Given the description of an element on the screen output the (x, y) to click on. 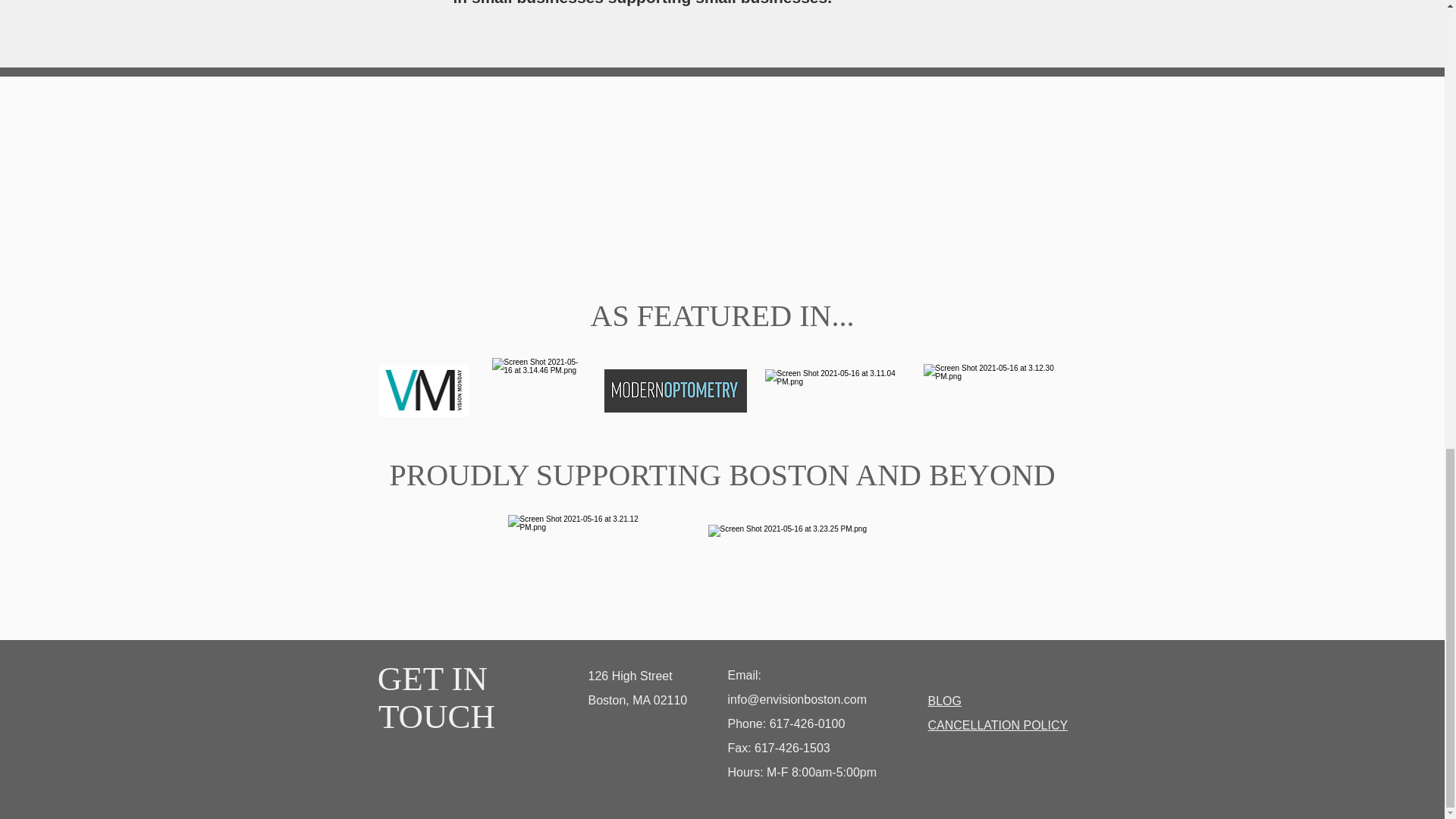
CANCELLATION POLICY (998, 725)
BLOG (944, 700)
